Given the description of an element on the screen output the (x, y) to click on. 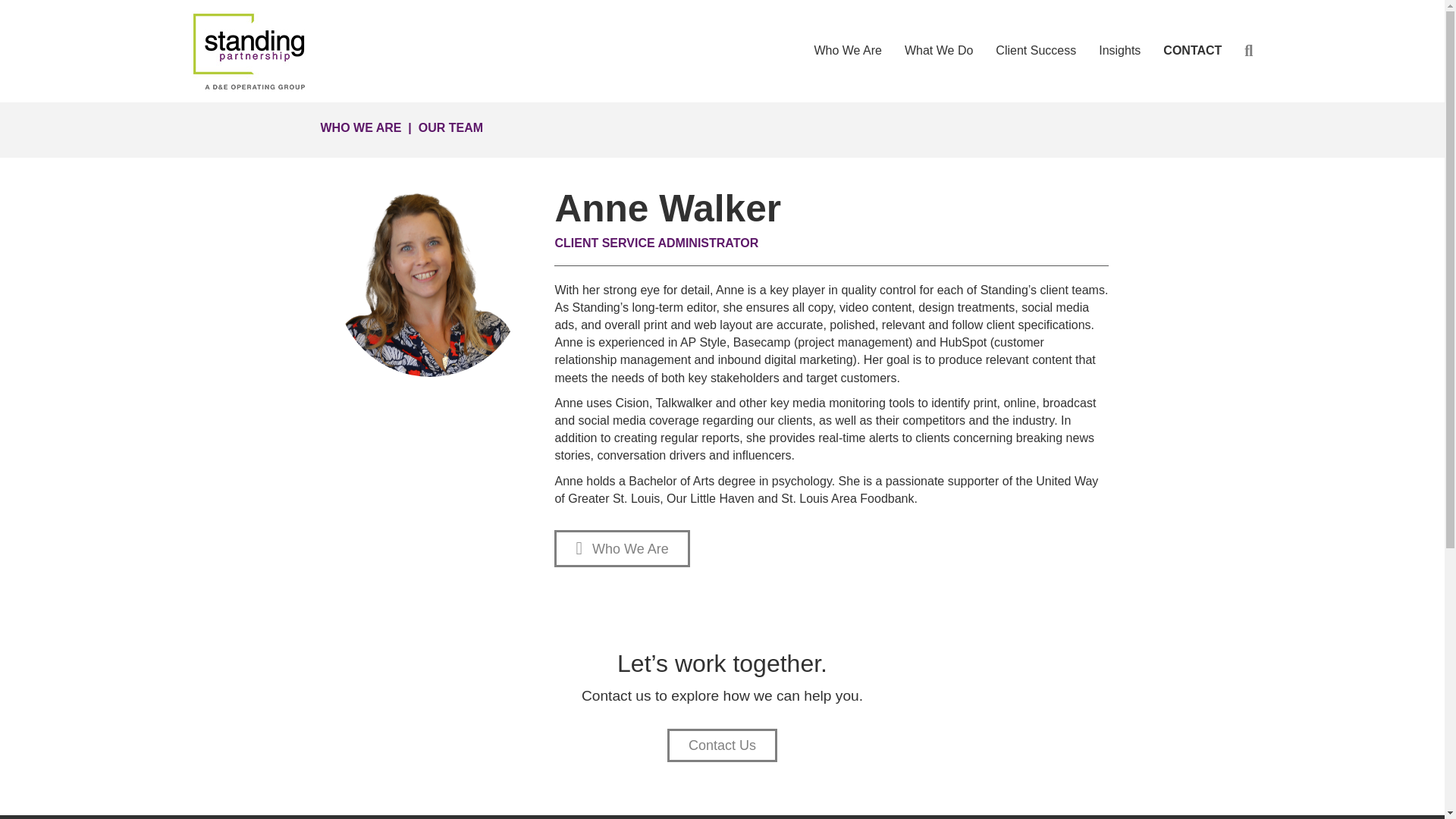
Who We Are (847, 50)
WHO WE ARE (360, 127)
Anne Headshot - Cut Outs (429, 282)
Insights (1119, 50)
What We Do (938, 50)
Client Success (1035, 50)
Contact Us (721, 745)
Who We Are (621, 548)
CONTACT (1191, 50)
